Given the description of an element on the screen output the (x, y) to click on. 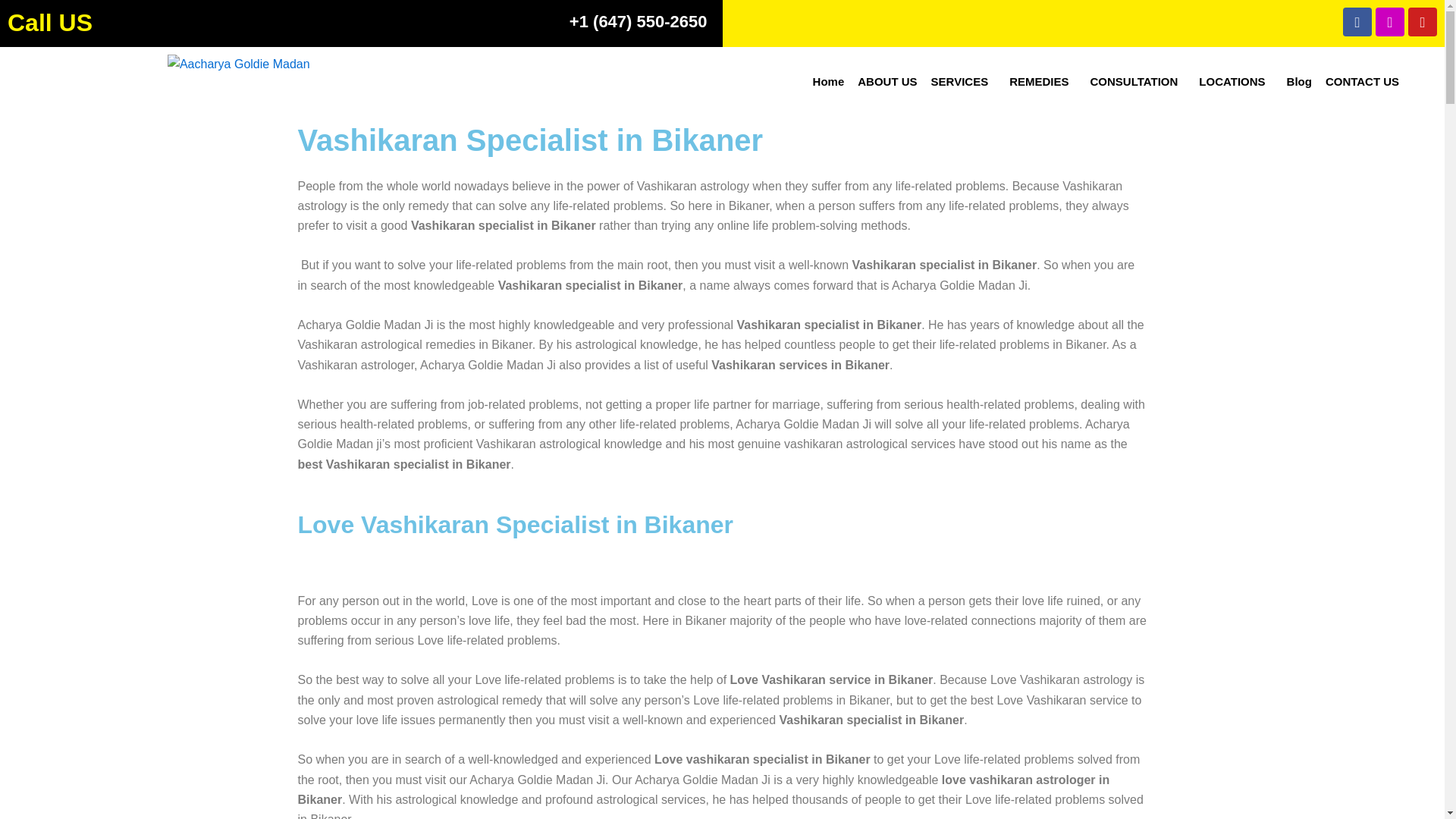
REMEDIES (1043, 81)
ABOUT US (886, 81)
Instagram (1390, 21)
Facebook (1356, 21)
SERVICES (963, 81)
CONSULTATION (1137, 81)
LOCATIONS (1235, 81)
Home (828, 81)
Youtube (1422, 21)
